Given the description of an element on the screen output the (x, y) to click on. 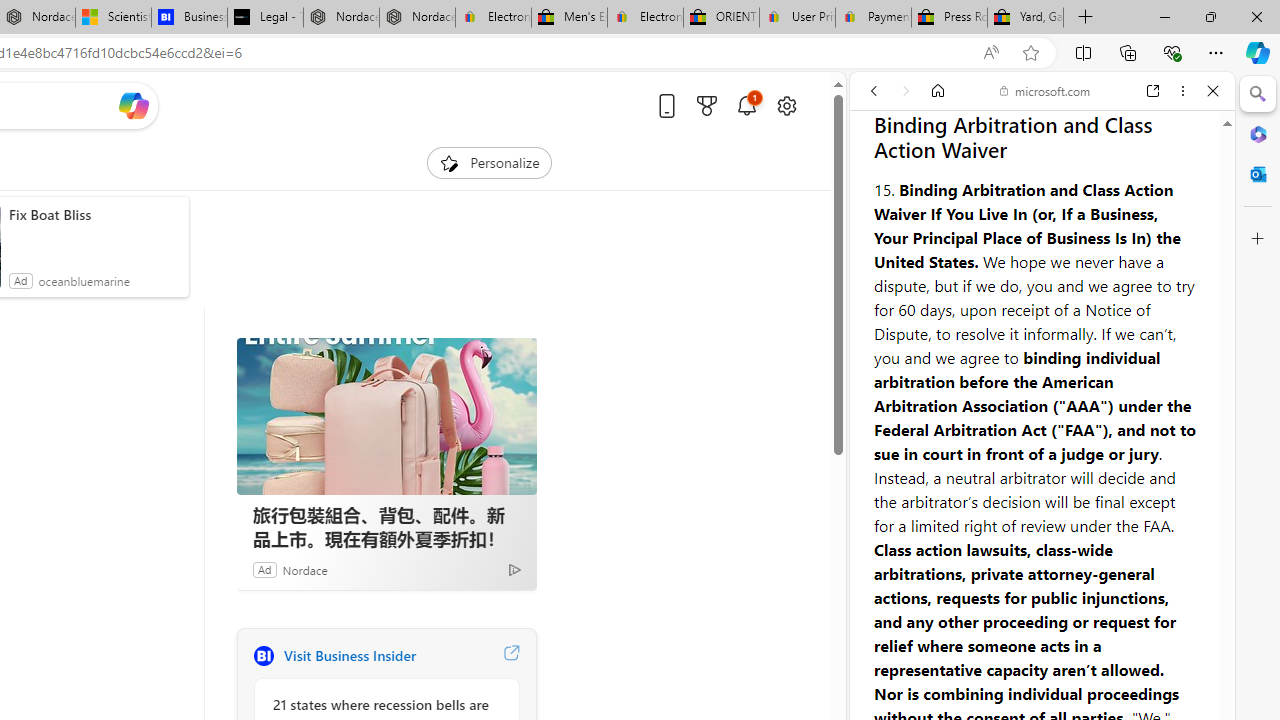
Fix Boat Bliss (93, 214)
